Given the description of an element on the screen output the (x, y) to click on. 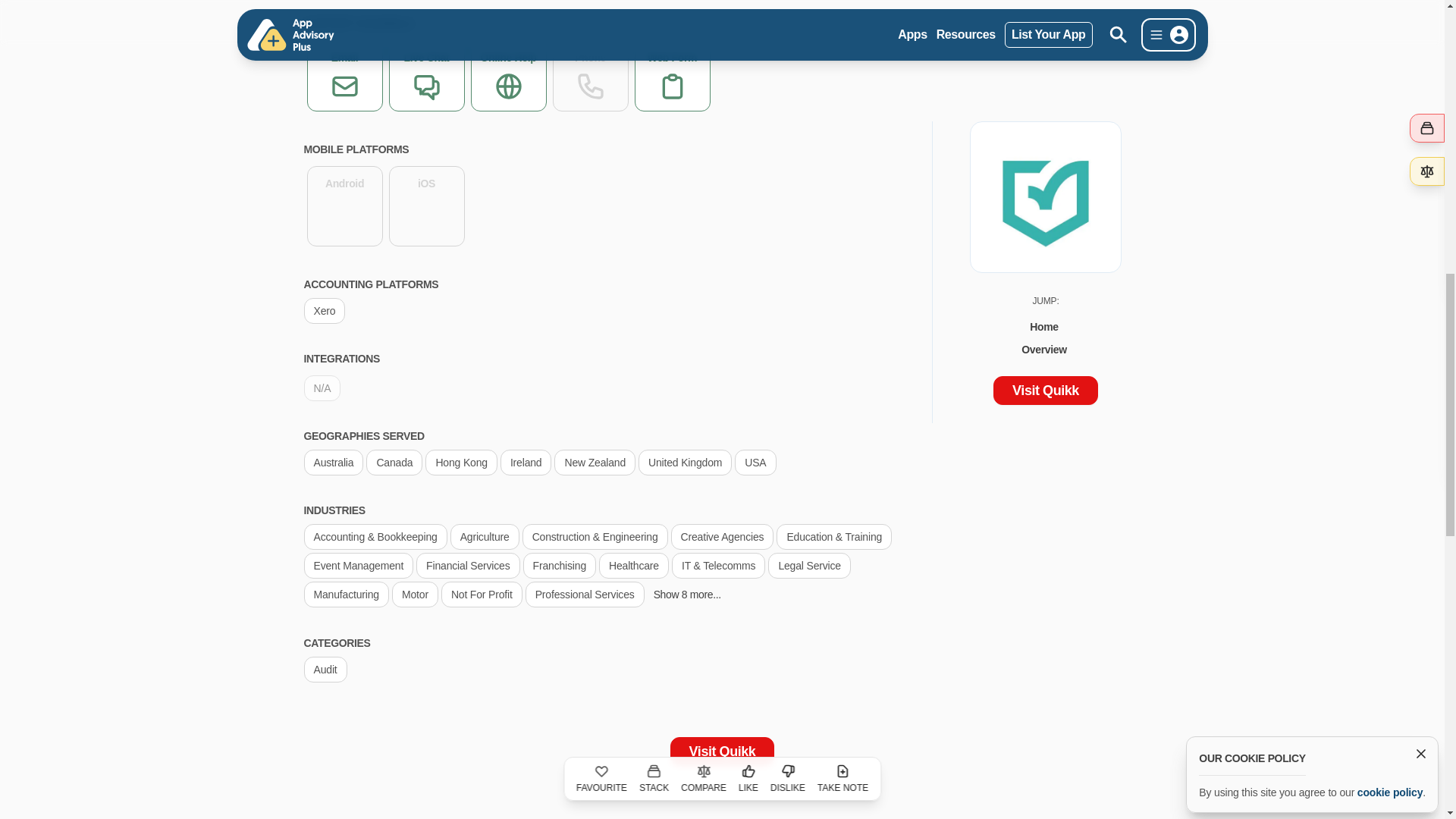
Agriculture (484, 535)
Franchising (558, 564)
Financial Services (467, 564)
Motor (414, 594)
Legal Service (809, 564)
Visit Quikk (721, 751)
Xero (323, 309)
Creative Agencies (722, 535)
Healthcare (633, 564)
Not For Profit (481, 594)
Event Management (357, 564)
Manufacturing (345, 594)
Professional Services (585, 594)
Audit (324, 668)
